Given the description of an element on the screen output the (x, y) to click on. 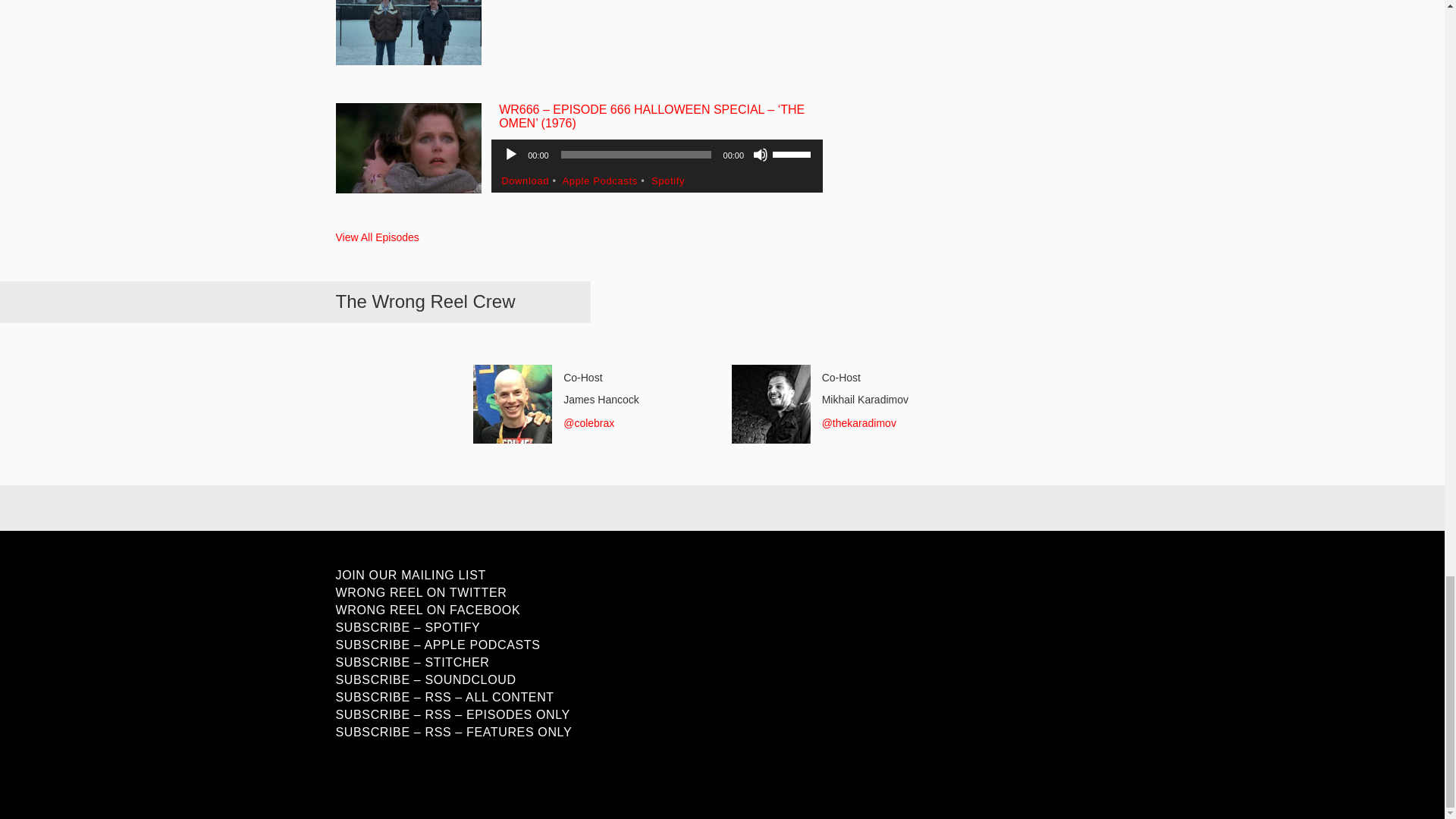
Play (510, 154)
Mute (760, 154)
